Given the description of an element on the screen output the (x, y) to click on. 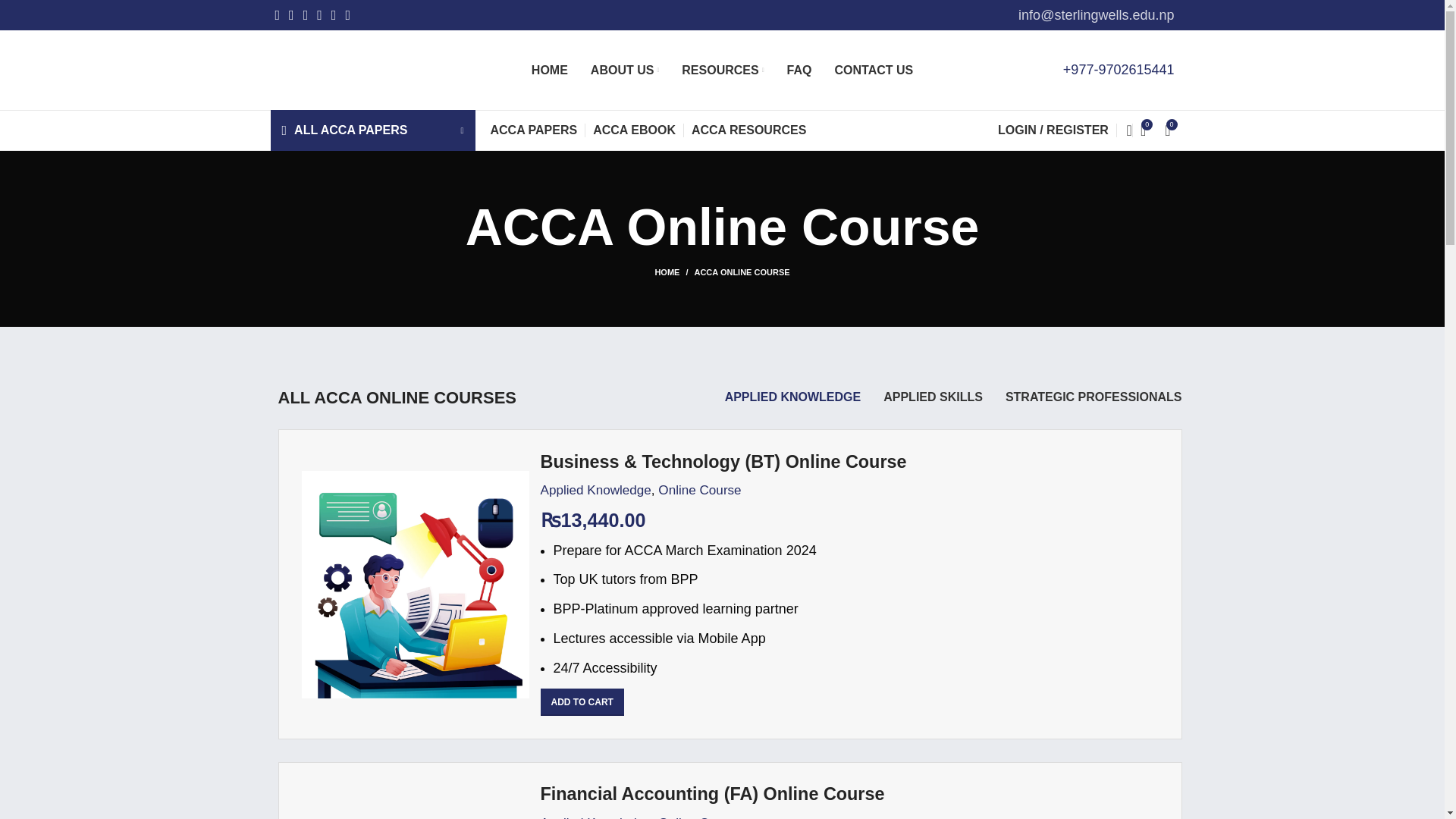
HOME (549, 69)
RESOURCES (721, 69)
CONTACT US (873, 69)
My account (1053, 130)
ABOUT US (625, 69)
